Given the description of an element on the screen output the (x, y) to click on. 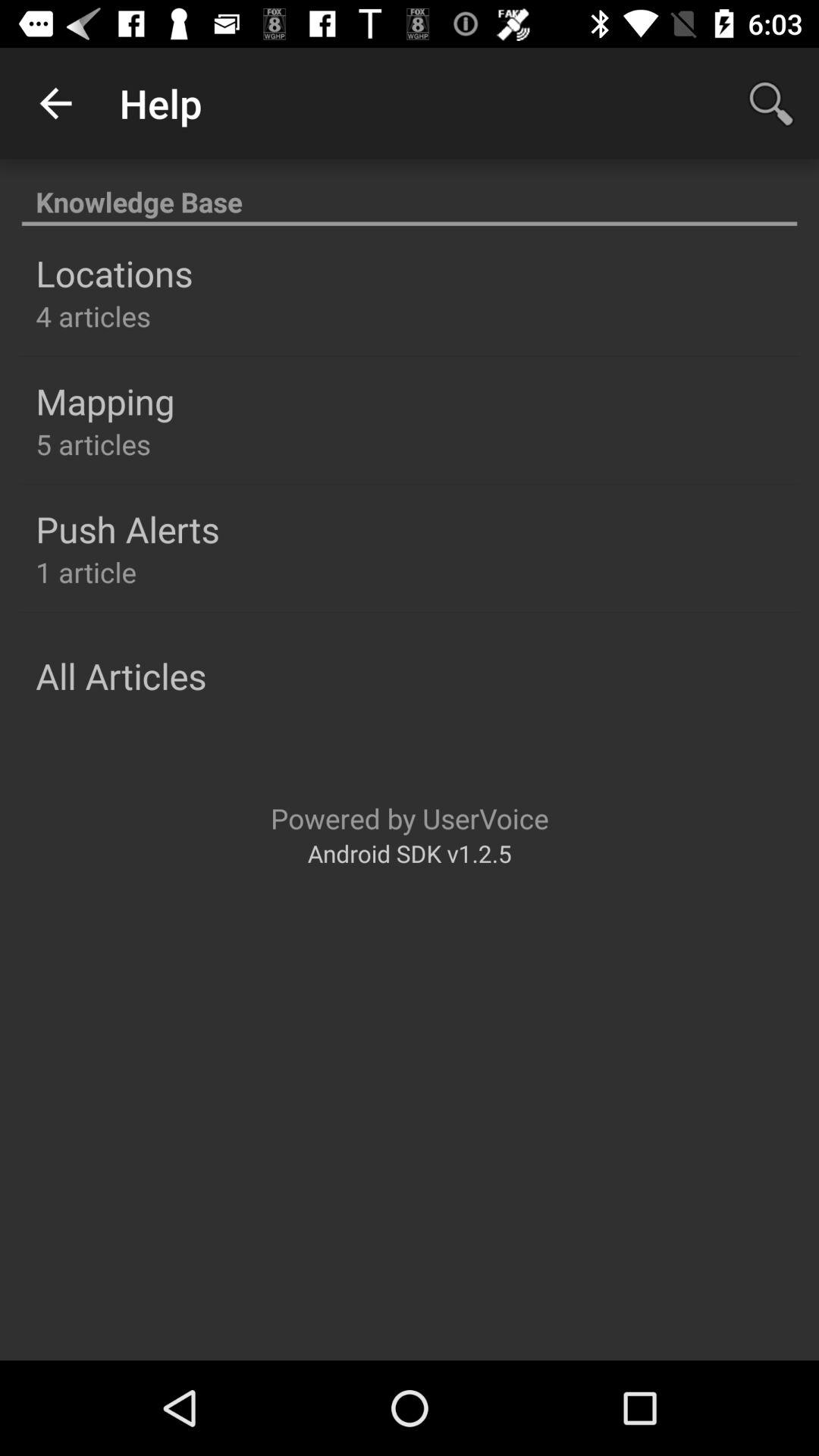
click the item below mapping (92, 443)
